Given the description of an element on the screen output the (x, y) to click on. 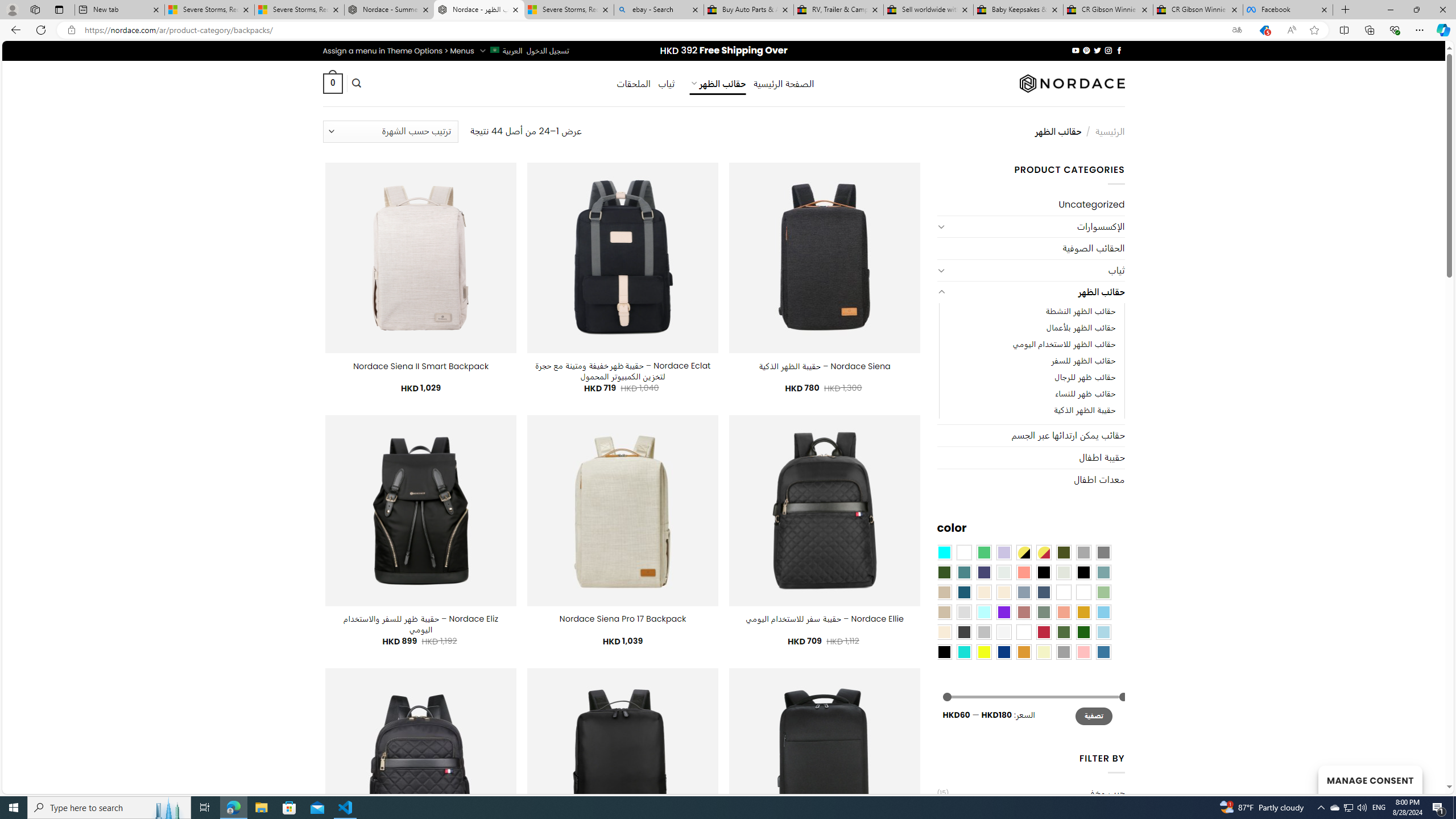
Follow on Instagram (1108, 50)
Emerald Green (983, 551)
Forest (944, 572)
Yellow-Red (1043, 551)
Aqua Blue (944, 551)
Kelp (1063, 591)
